Given the description of an element on the screen output the (x, y) to click on. 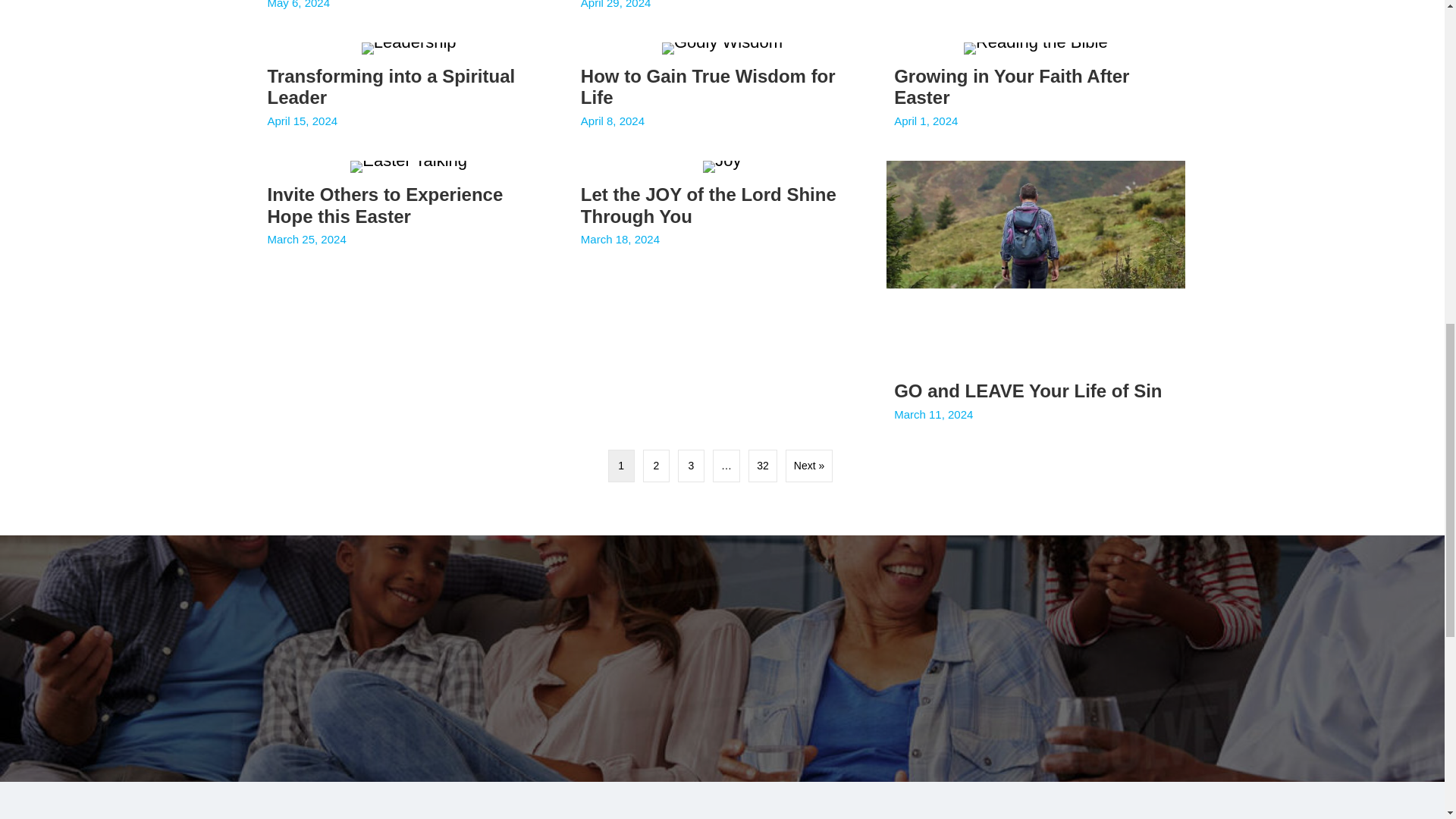
Encouragement for Christians from the Book of Acts (721, 13)
Choose Who You Will Serve (1035, 13)
The Differences Between the Gospel Accounts (408, 13)
